Given the description of an element on the screen output the (x, y) to click on. 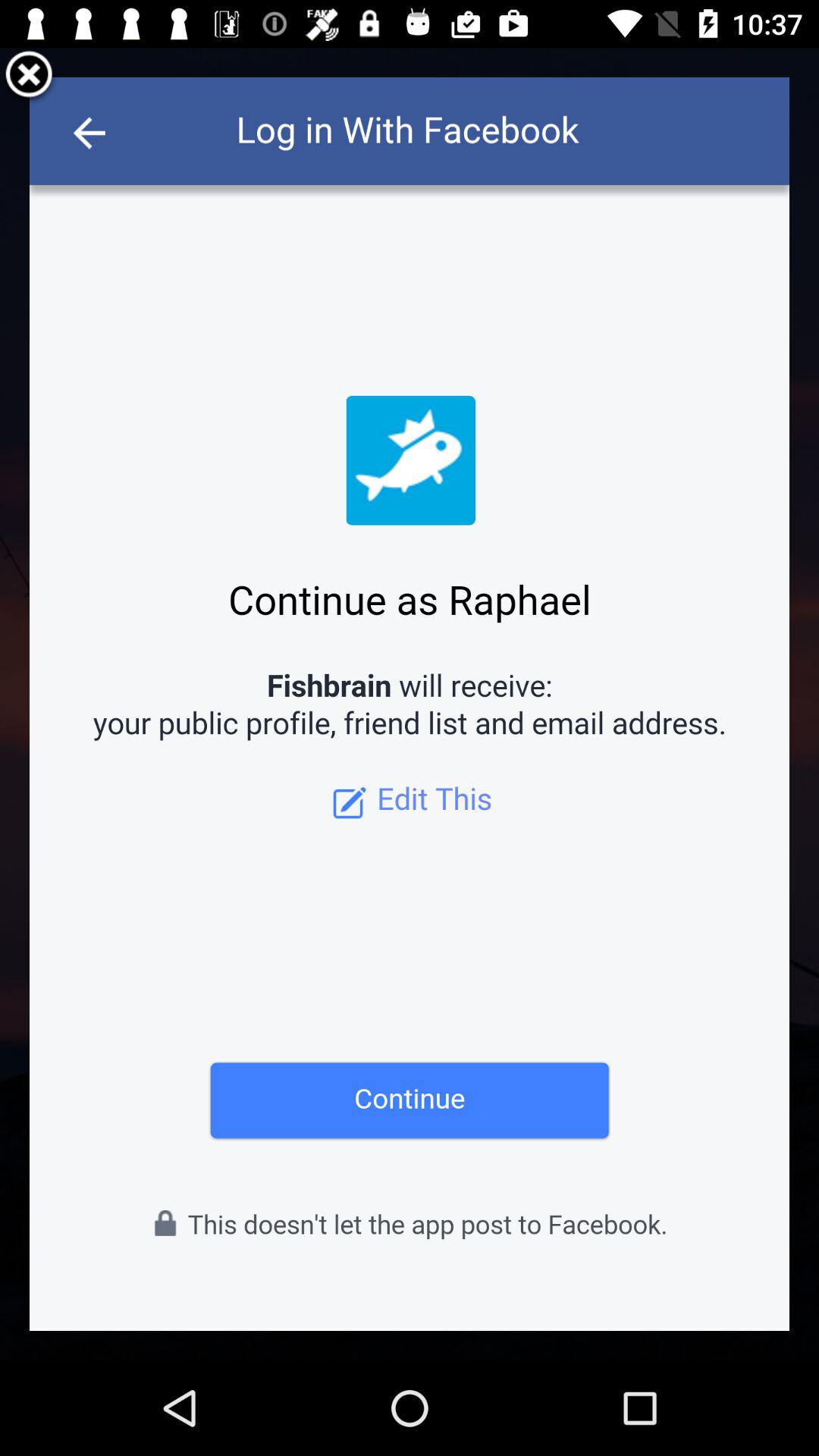
close icon botton (29, 76)
